Given the description of an element on the screen output the (x, y) to click on. 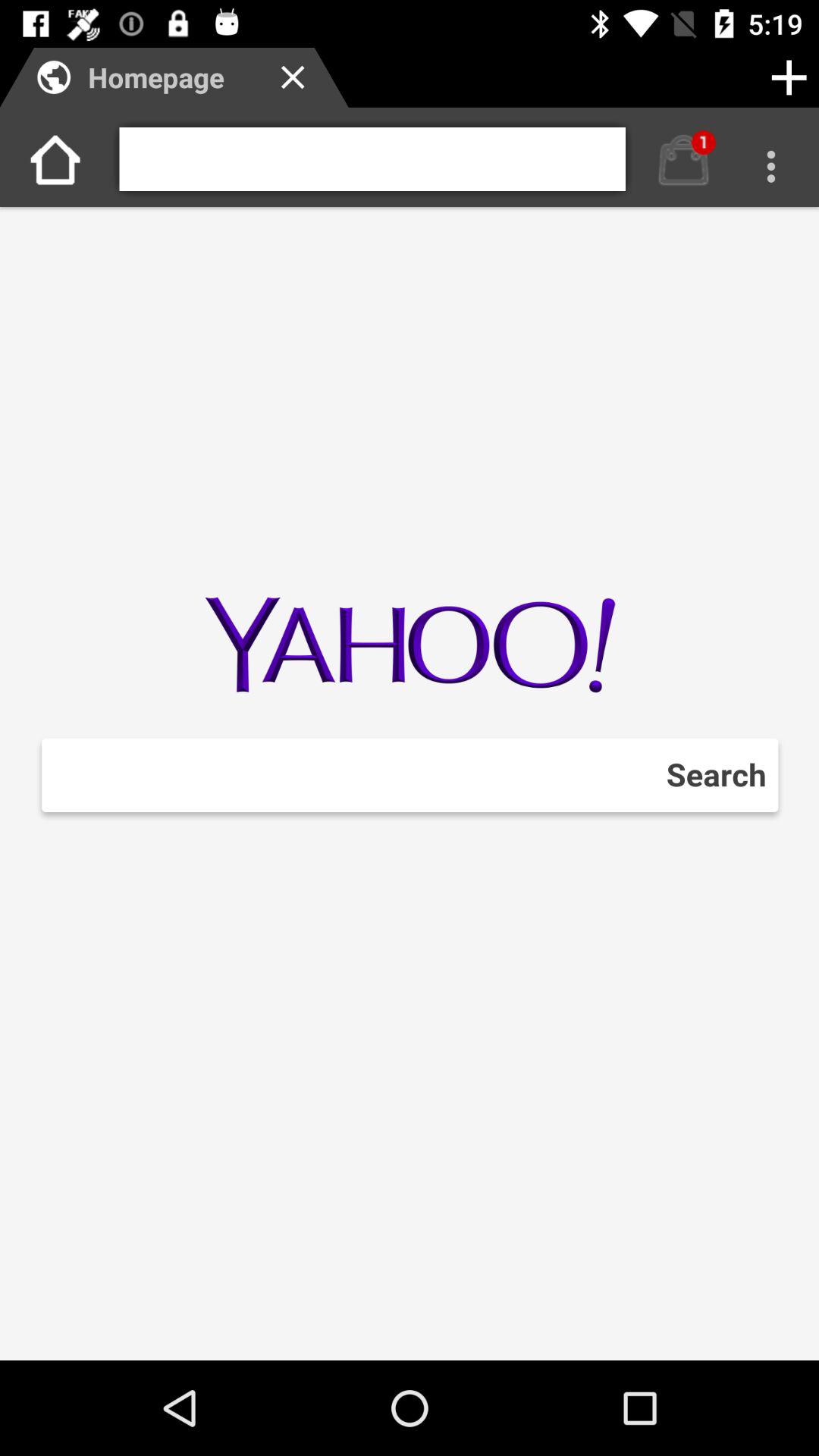
message button (683, 159)
